Given the description of an element on the screen output the (x, y) to click on. 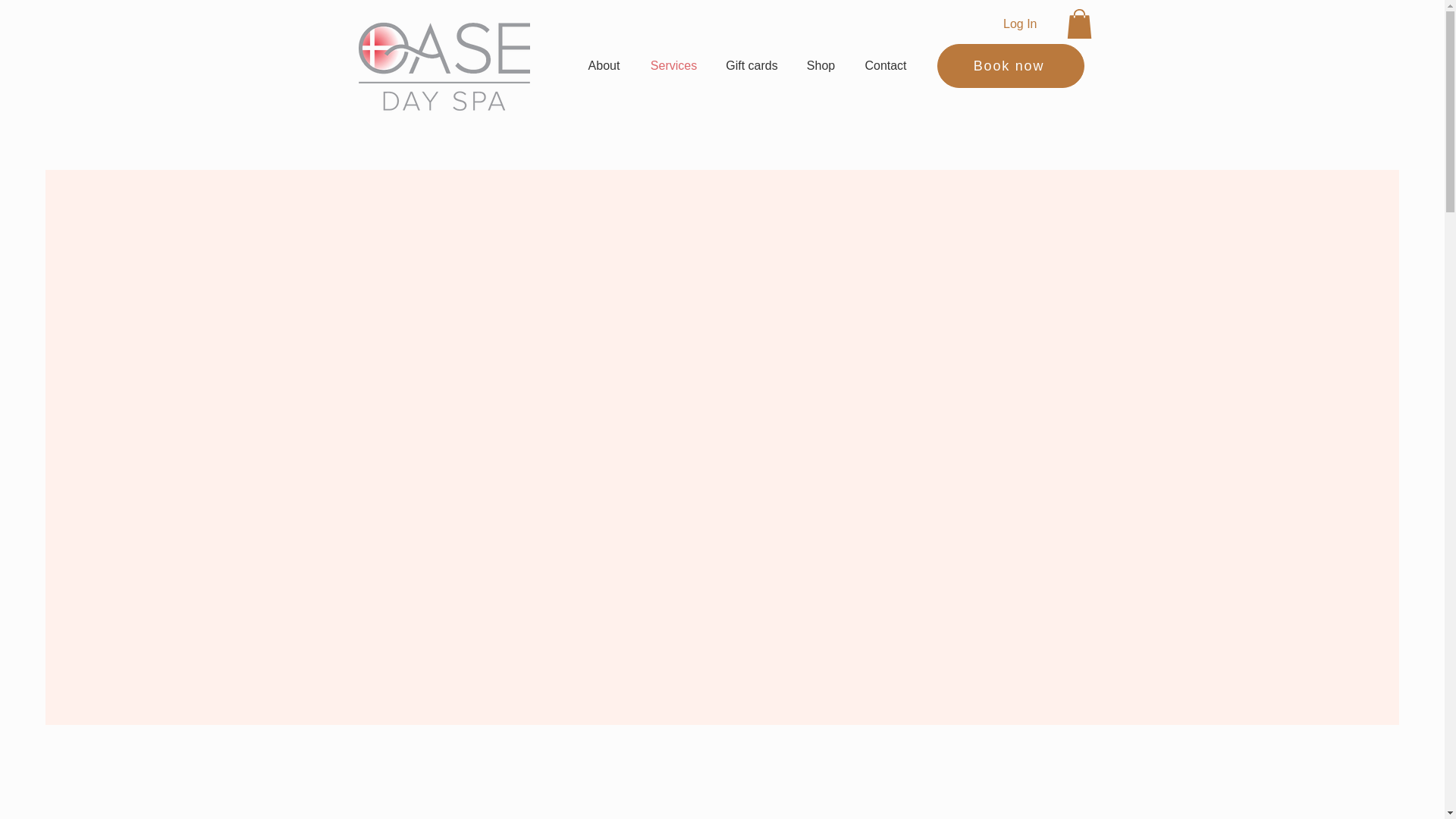
Gift cards (751, 65)
Shop (820, 65)
About (603, 65)
Contact (884, 65)
Services (672, 65)
Book now (1010, 65)
Log In (1019, 23)
